Given the description of an element on the screen output the (x, y) to click on. 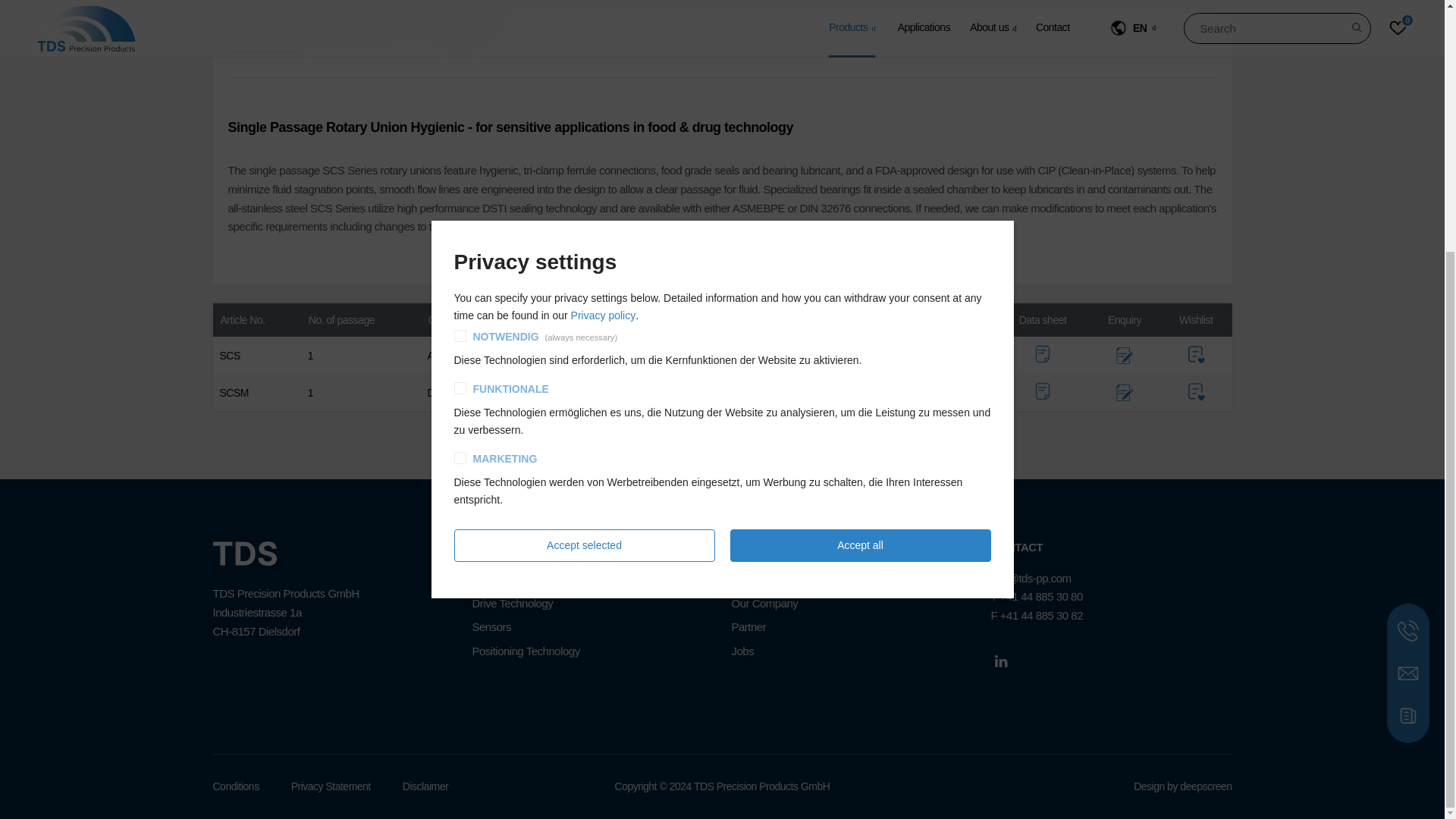
Call Us (1407, 276)
Contact Us (1407, 319)
